Given the description of an element on the screen output the (x, y) to click on. 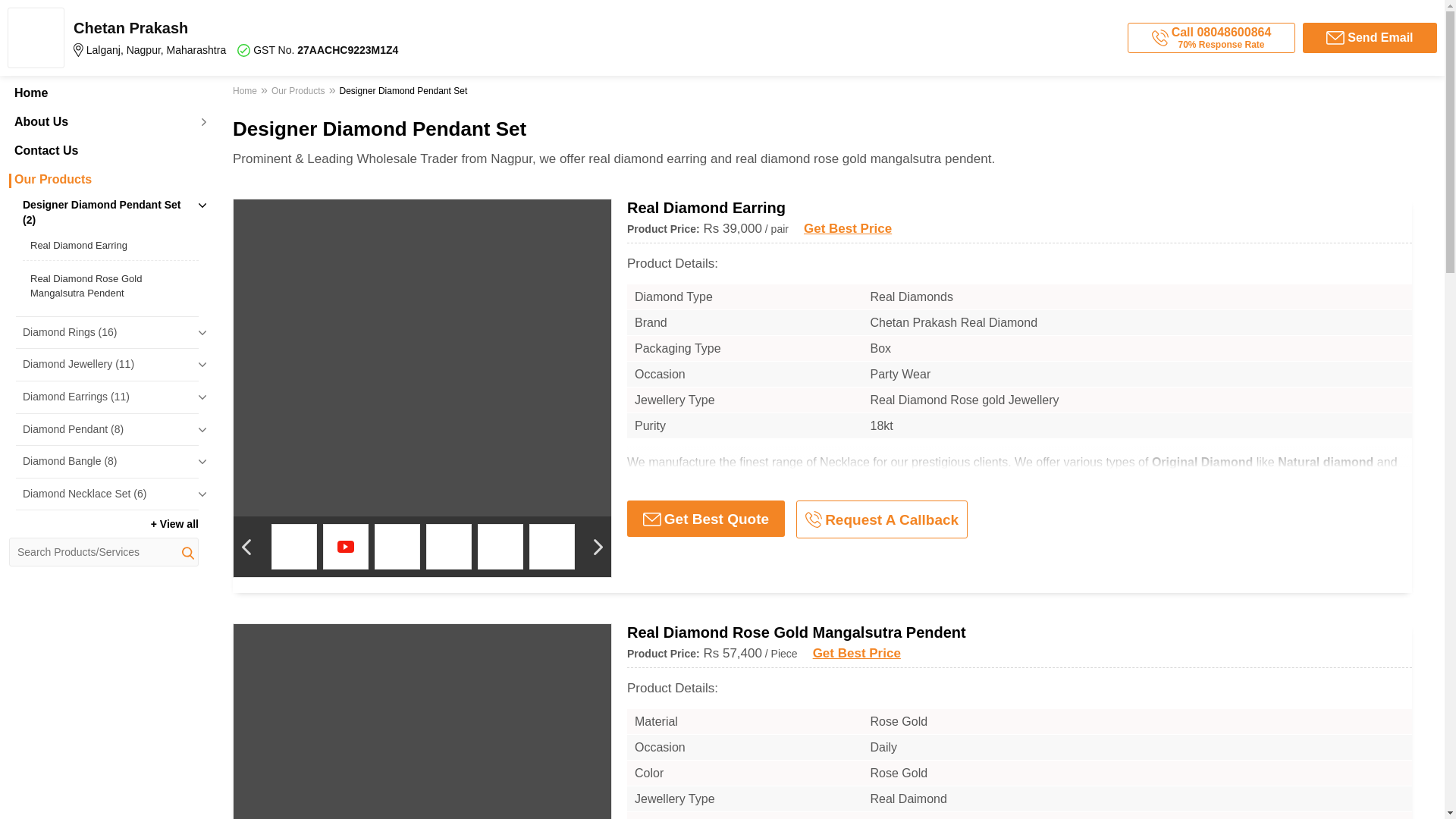
About Us (103, 121)
Our Products (103, 179)
Contact Us (103, 150)
Home (103, 92)
Real Diamond Earring (110, 245)
Real Diamond Rose Gold Mangalsutra Pendent (110, 285)
